Given the description of an element on the screen output the (x, y) to click on. 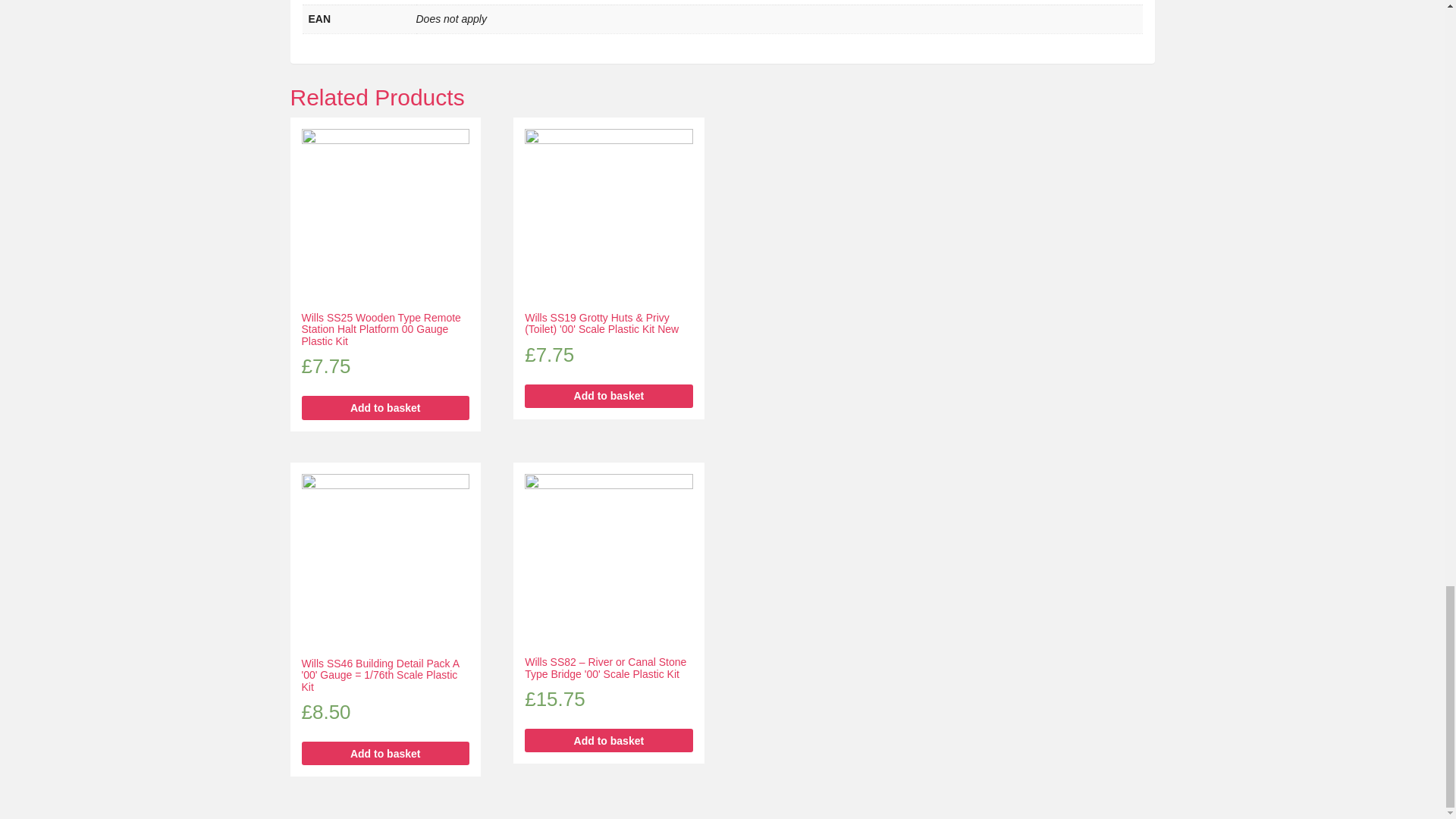
Add to basket (384, 407)
Add to basket (384, 753)
Add to basket (608, 395)
Add to basket (608, 740)
